Given the description of an element on the screen output the (x, y) to click on. 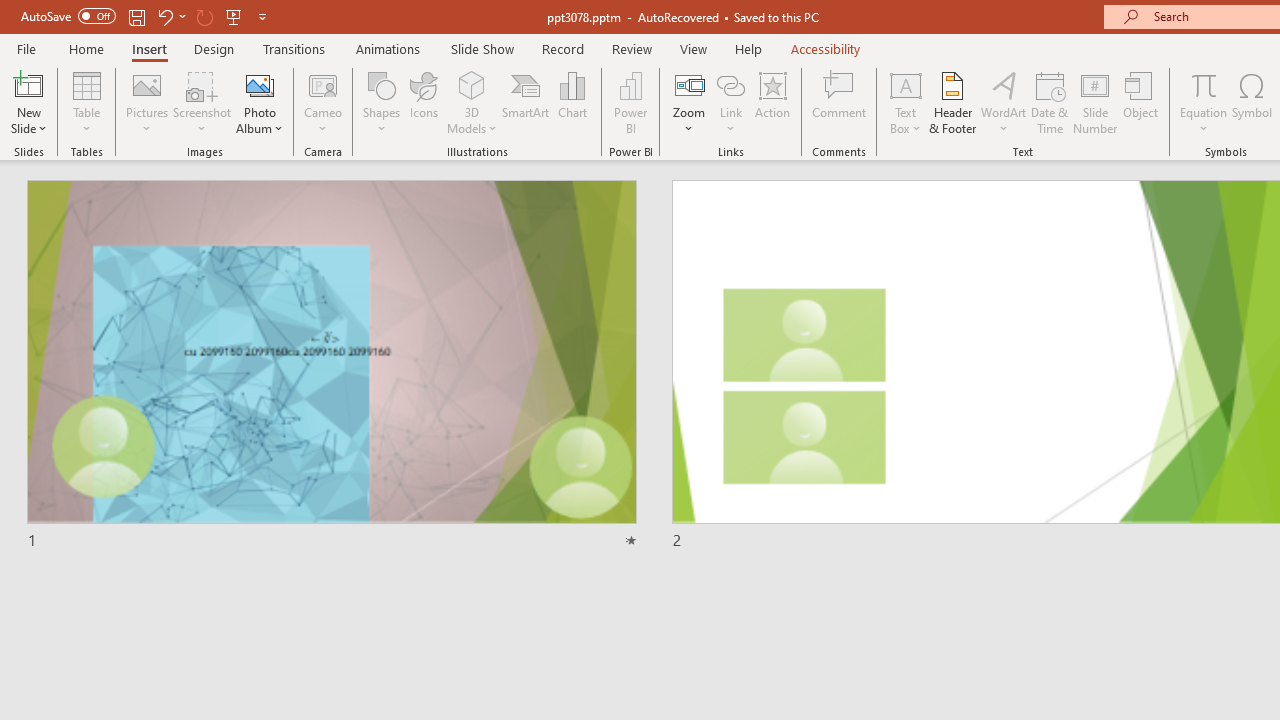
Table (86, 102)
Symbol... (1252, 102)
Object... (1141, 102)
Power BI (630, 102)
3D Models (472, 84)
New Photo Album... (259, 84)
